Given the description of an element on the screen output the (x, y) to click on. 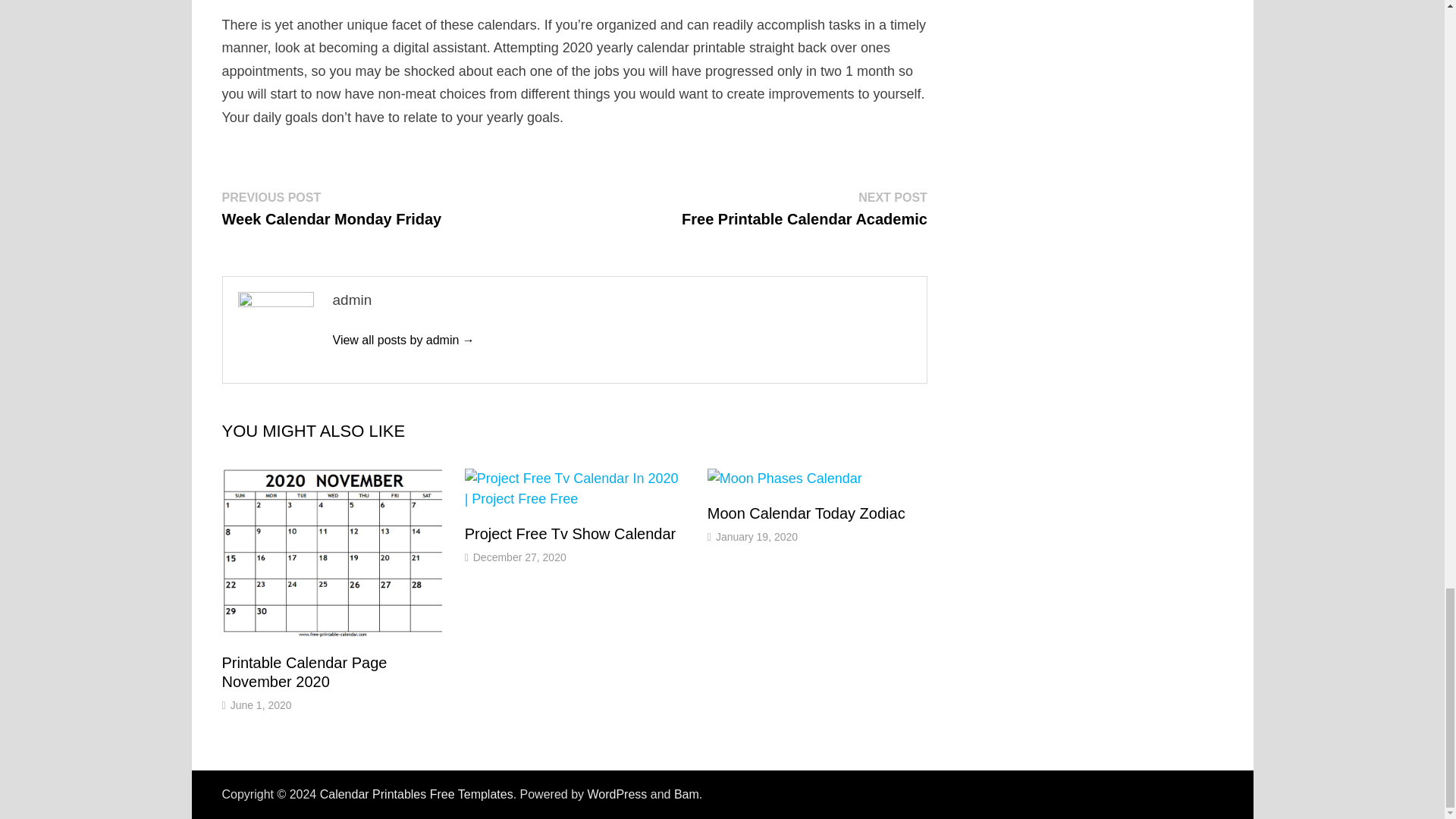
Free Printable Homework Calendar (793, 703)
Free Printable Homework Calendar (793, 703)
January 17, 2020 (804, 369)
Single Sheet Wall Calendar - 4-Color Quarterly Full Year (756, 736)
April 3, 2021 (397, 118)
admin (502, 736)
January 1, 2020 (402, 500)
